Given the description of an element on the screen output the (x, y) to click on. 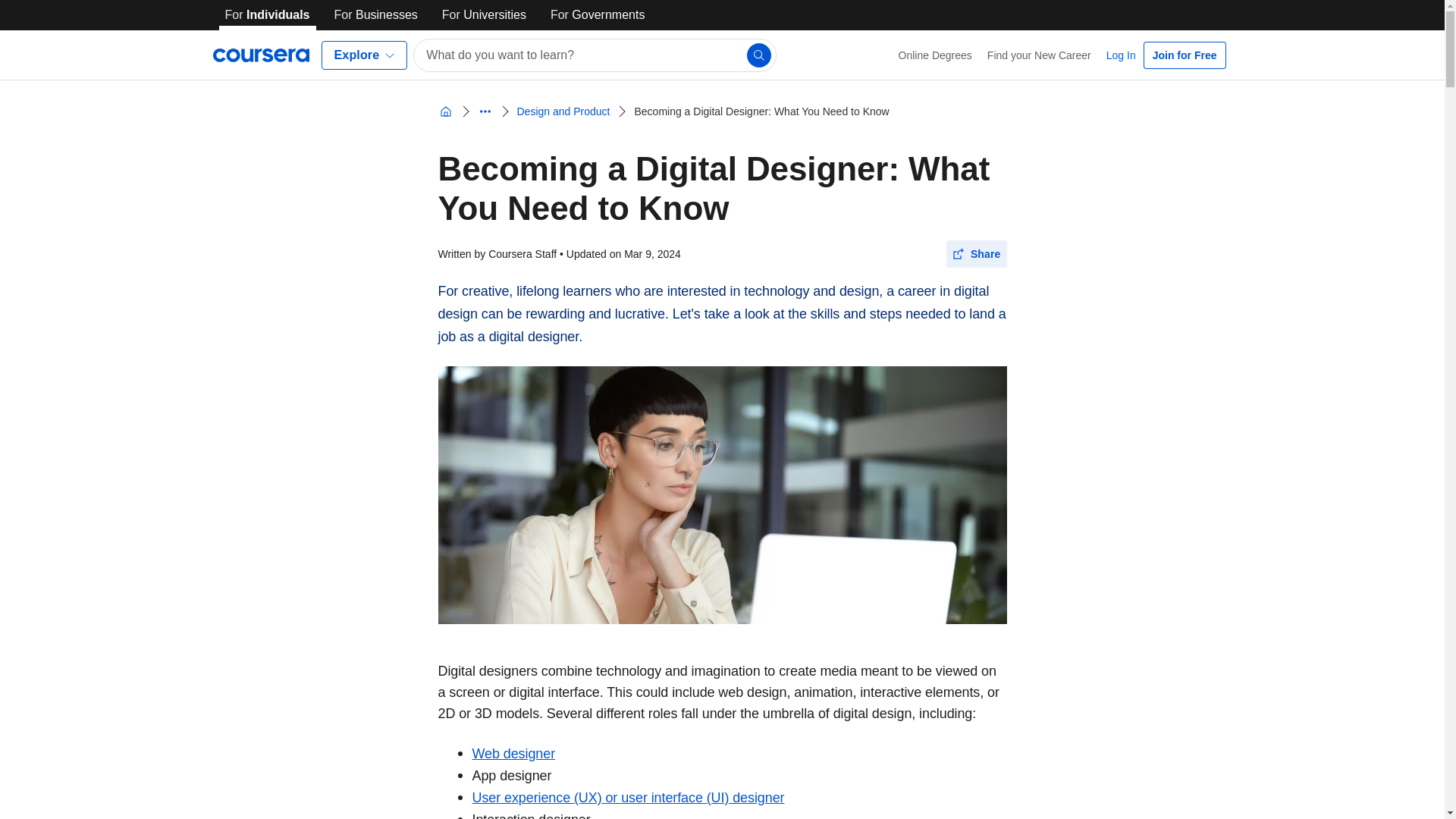
For Governments (597, 15)
Explore (364, 54)
For Individuals (266, 15)
For Universities (483, 15)
For Businesses (376, 15)
